Given the description of an element on the screen output the (x, y) to click on. 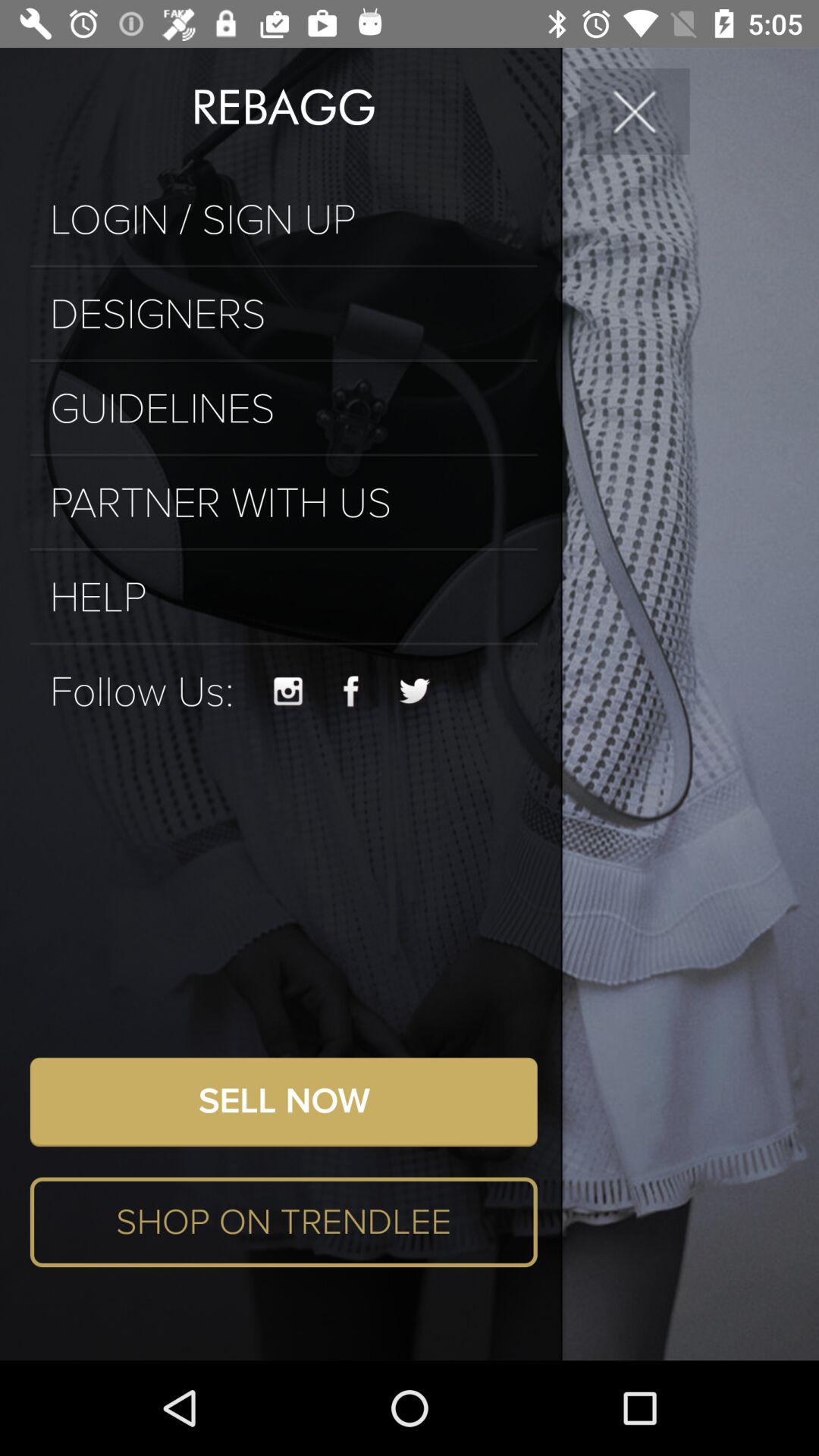
launch the item above the help (283, 549)
